Given the description of an element on the screen output the (x, y) to click on. 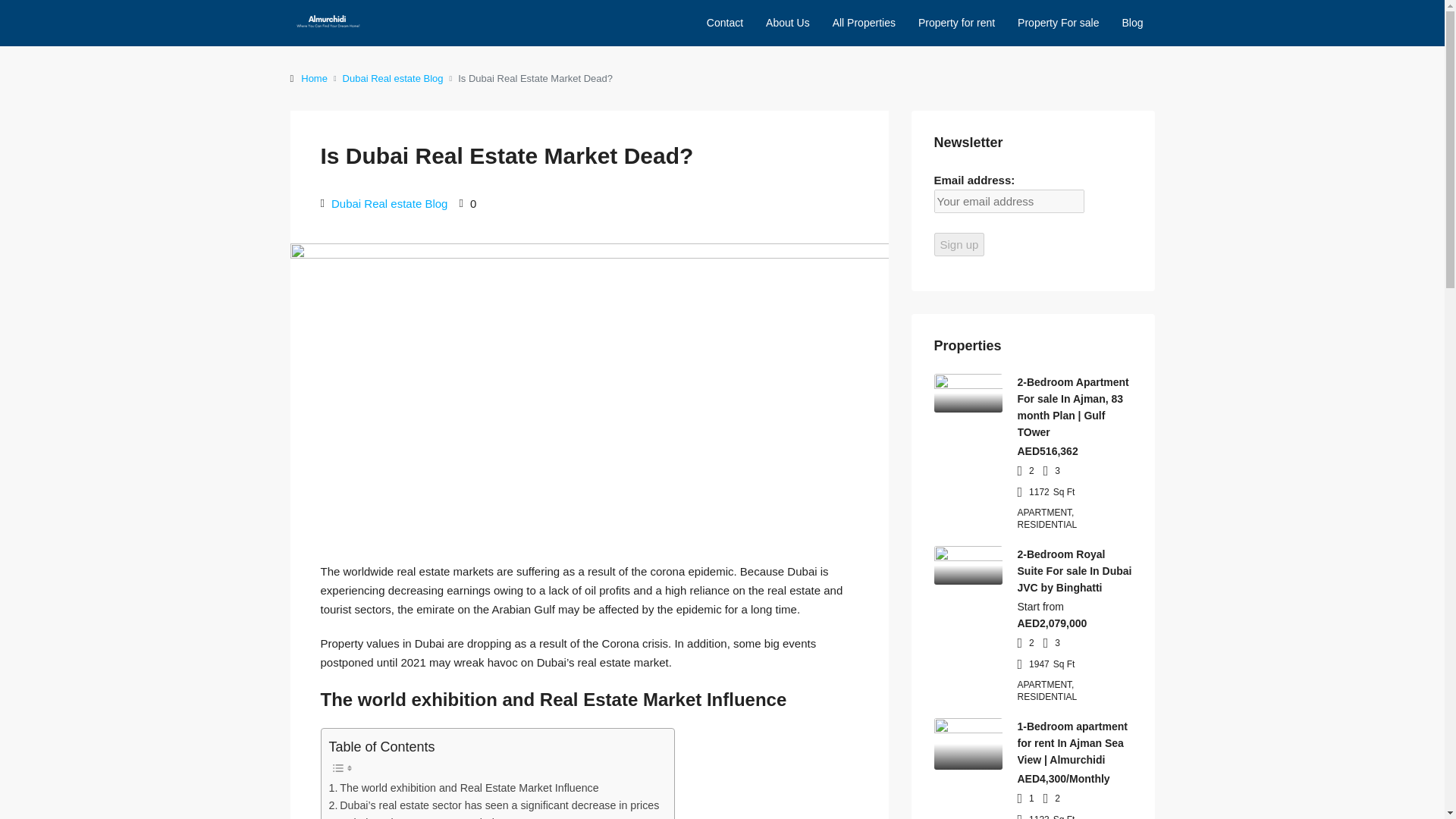
Sign up (959, 244)
The world exhibition and Real Estate Market Influence (463, 787)
The world exhibition and Real Estate Market Influence (463, 787)
Sign up (959, 244)
Dubai Real estate Blog (393, 77)
2-Bedroom Royal Suite For sale In Dubai JVC by Binghatti (1074, 570)
Dubai Real estate Blog (388, 203)
Home (314, 77)
All Properties (864, 22)
Property for rent (956, 22)
